Given the description of an element on the screen output the (x, y) to click on. 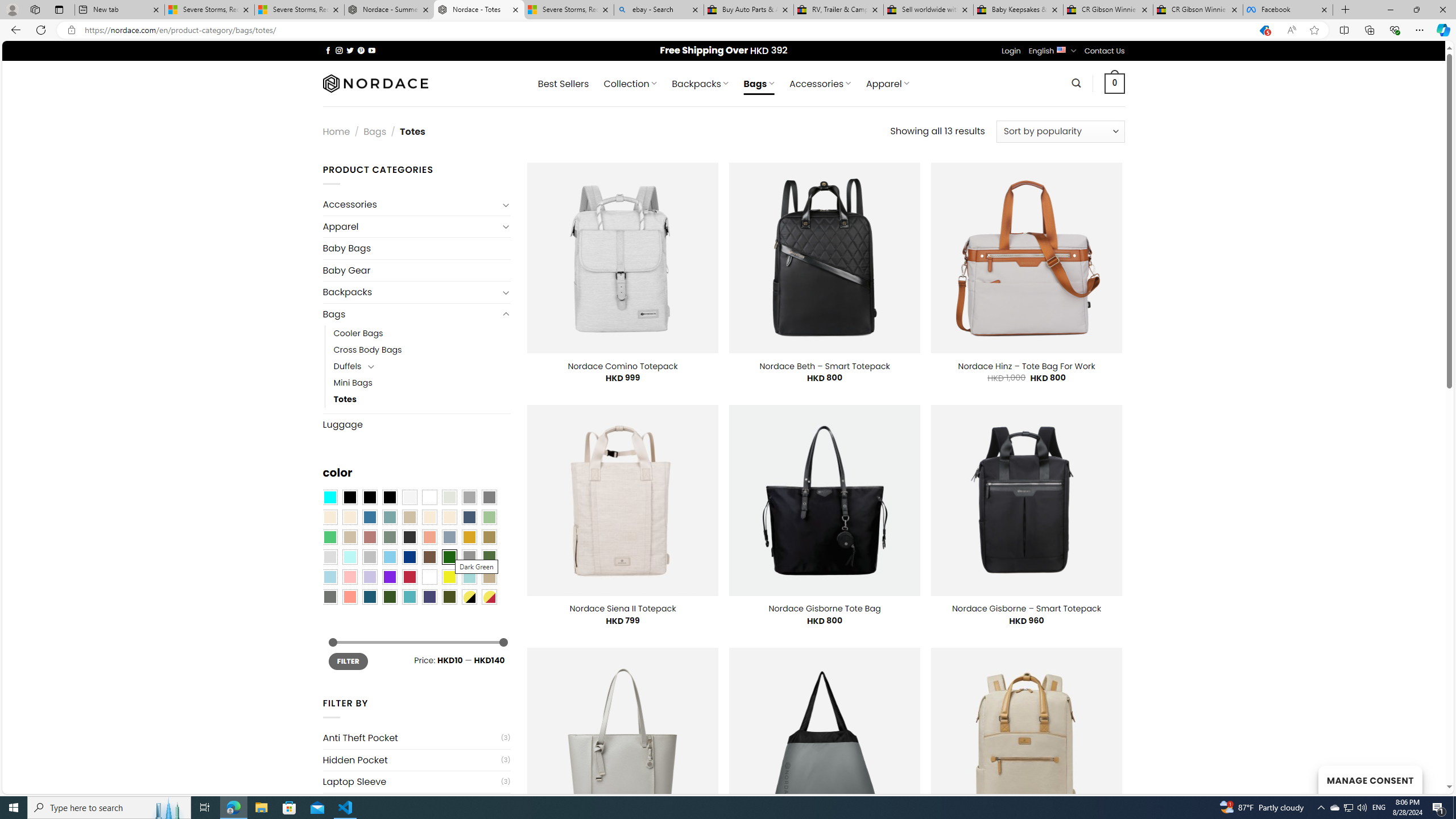
Laptop Sleeve (410, 781)
Duffels (347, 366)
Pearly White (408, 497)
Ash Gray (449, 497)
Yellow (449, 577)
Dull Nickle (329, 596)
Baby Bags (416, 248)
Follow on Instagram (338, 49)
Yellow-Red (488, 596)
Charcoal (408, 536)
Red (408, 577)
Follow on Pinterest (360, 49)
